Given the description of an element on the screen output the (x, y) to click on. 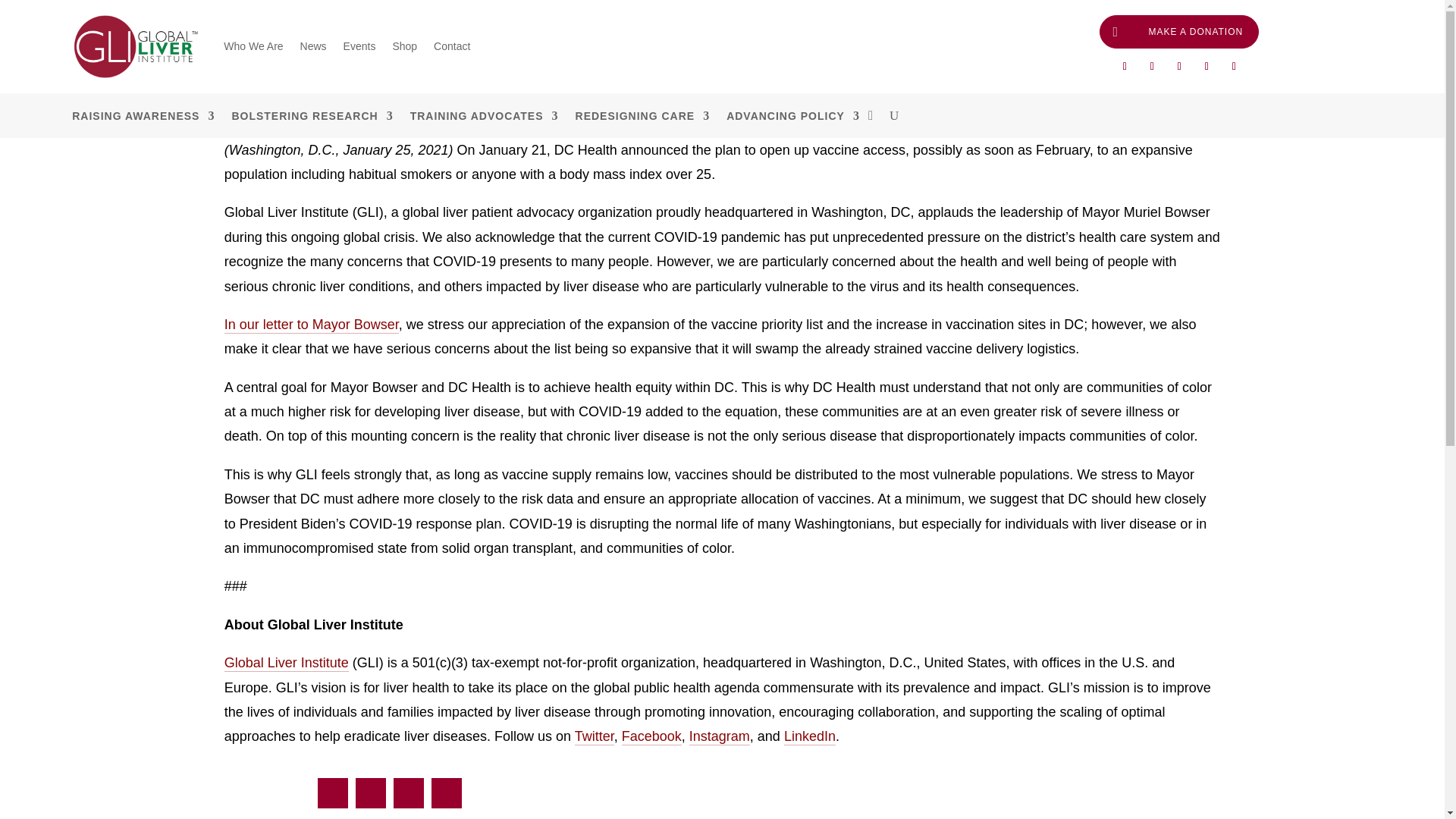
TRAINING ADVOCATES (484, 118)
Follow on Instagram (1206, 66)
RAISING AWARENESS (142, 118)
REDESIGNING CARE (642, 118)
ADVANCING POLICY (793, 118)
Follow on X (1151, 66)
Who We Are (253, 46)
BOLSTERING RESEARCH (312, 118)
Follow on Youtube (1179, 66)
Follow on LinkedIn (1233, 66)
Follow on Facebook (1124, 66)
